Given the description of an element on the screen output the (x, y) to click on. 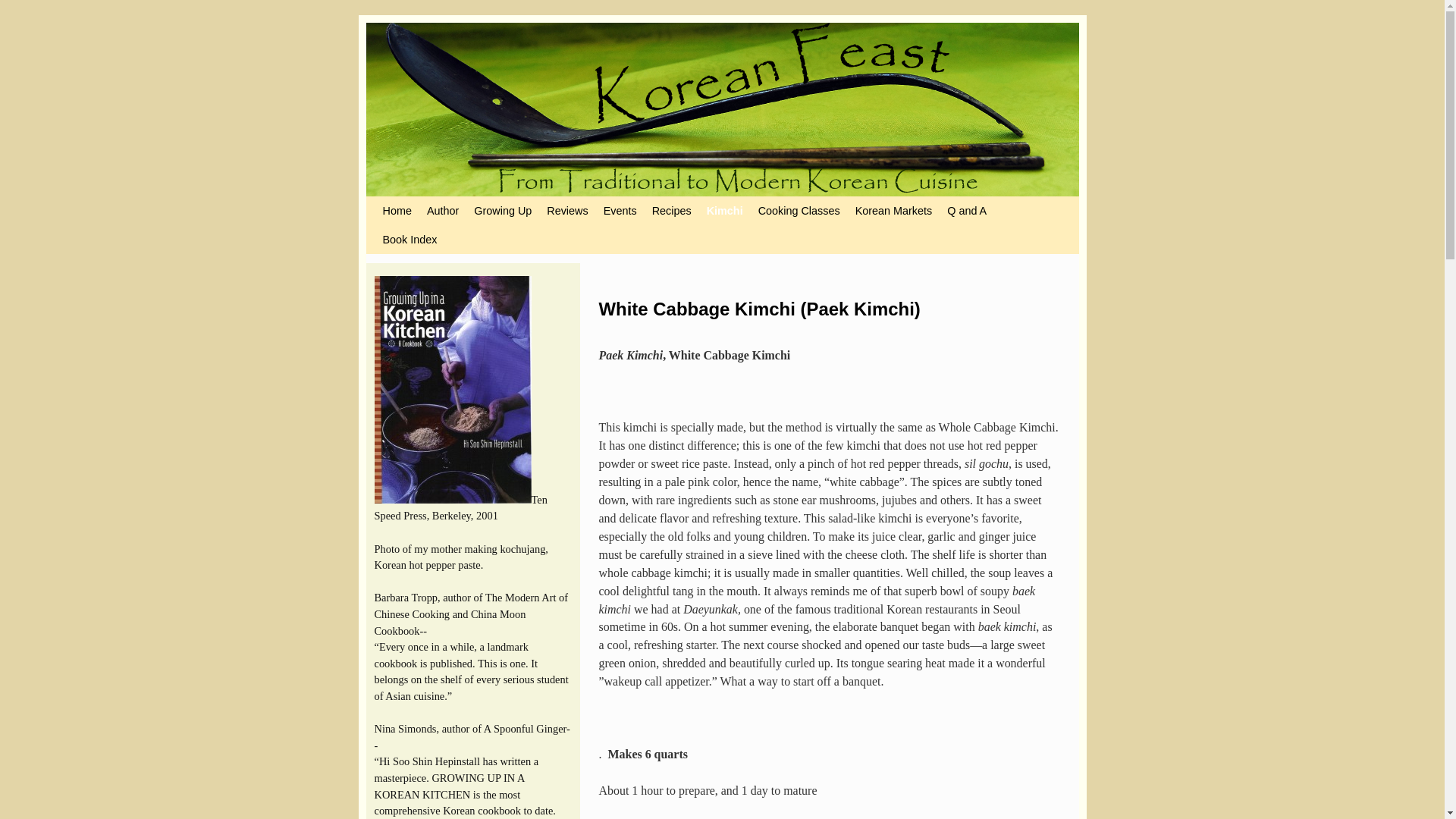
Reviews (566, 210)
Author (442, 210)
Home (396, 210)
Skip to primary content (408, 202)
Events (620, 210)
Recipes (671, 210)
Growing Up (501, 210)
Skip to secondary content (412, 202)
